Given the description of an element on the screen output the (x, y) to click on. 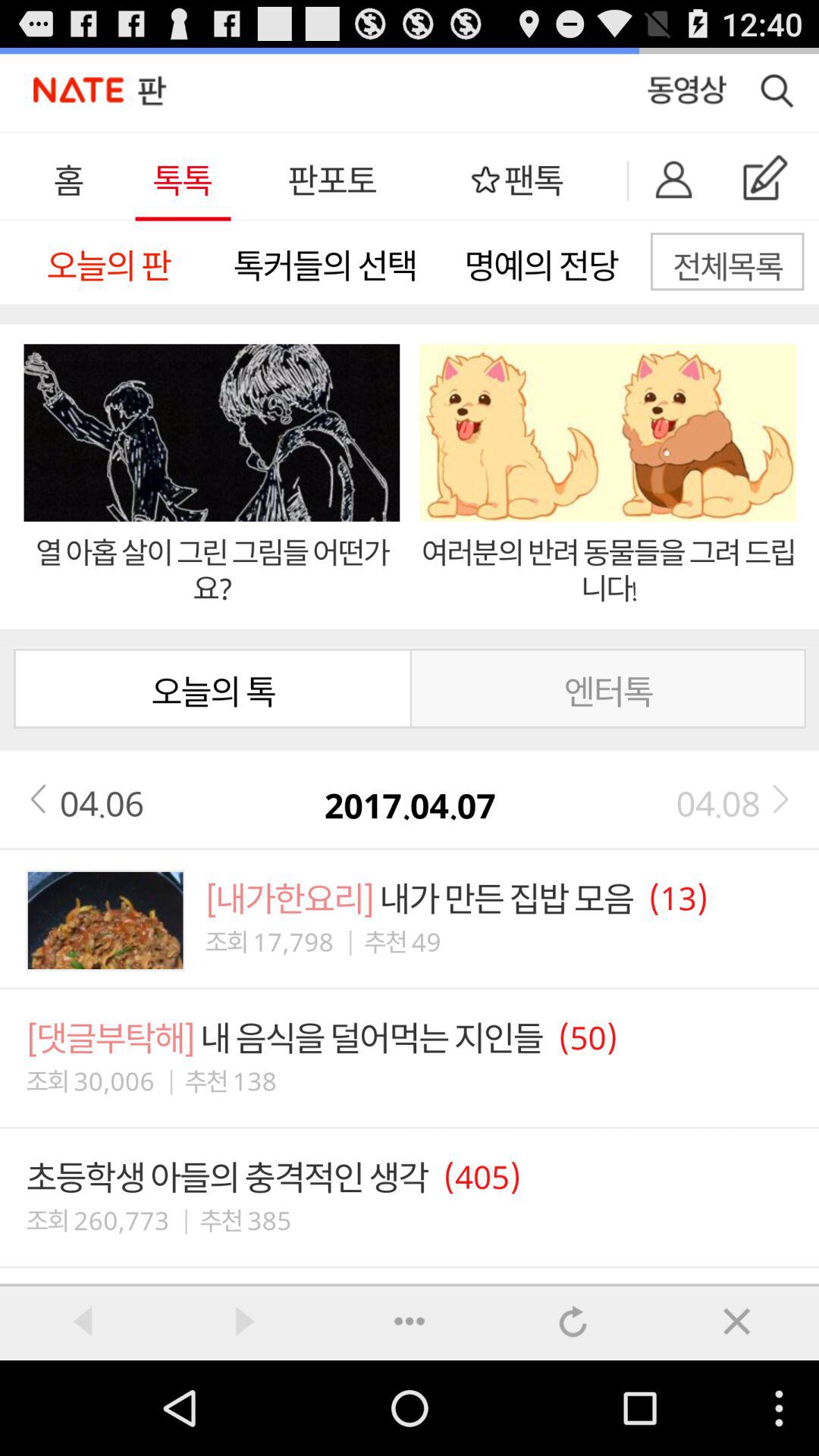
option (409, 1320)
